Given the description of an element on the screen output the (x, y) to click on. 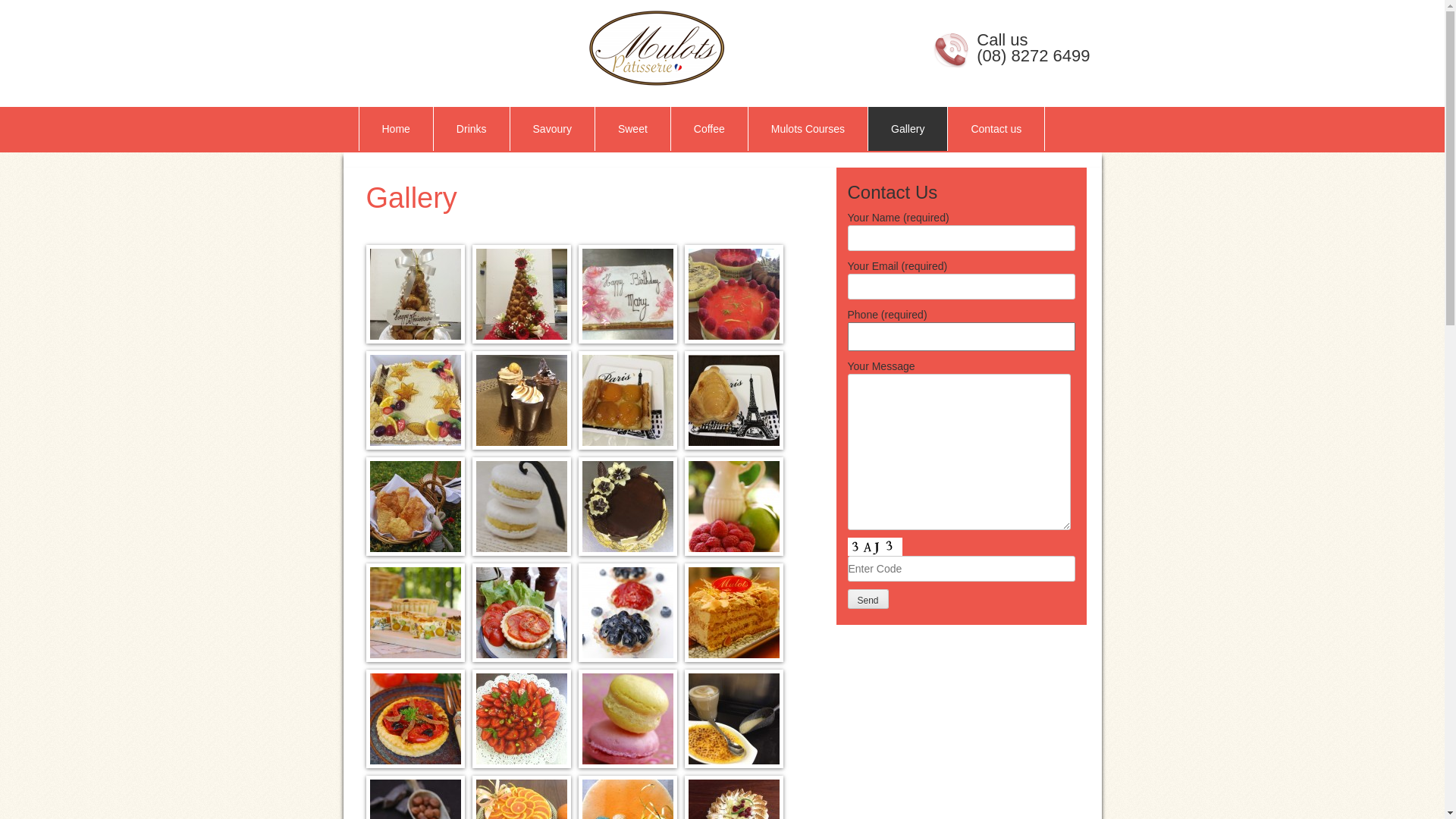
Drinks Element type: text (471, 128)
Savoury Element type: text (552, 128)
Mulots Patisserie Element type: hover (655, 47)
Contact us Element type: text (995, 128)
Mulots Courses Element type: text (807, 128)
Gallery Element type: text (907, 128)
Coffee Element type: text (709, 128)
Mulots Patisserie Element type: hover (544, 47)
Sweet Element type: text (632, 128)
Send Element type: text (867, 598)
Home Element type: text (396, 128)
